Given the description of an element on the screen output the (x, y) to click on. 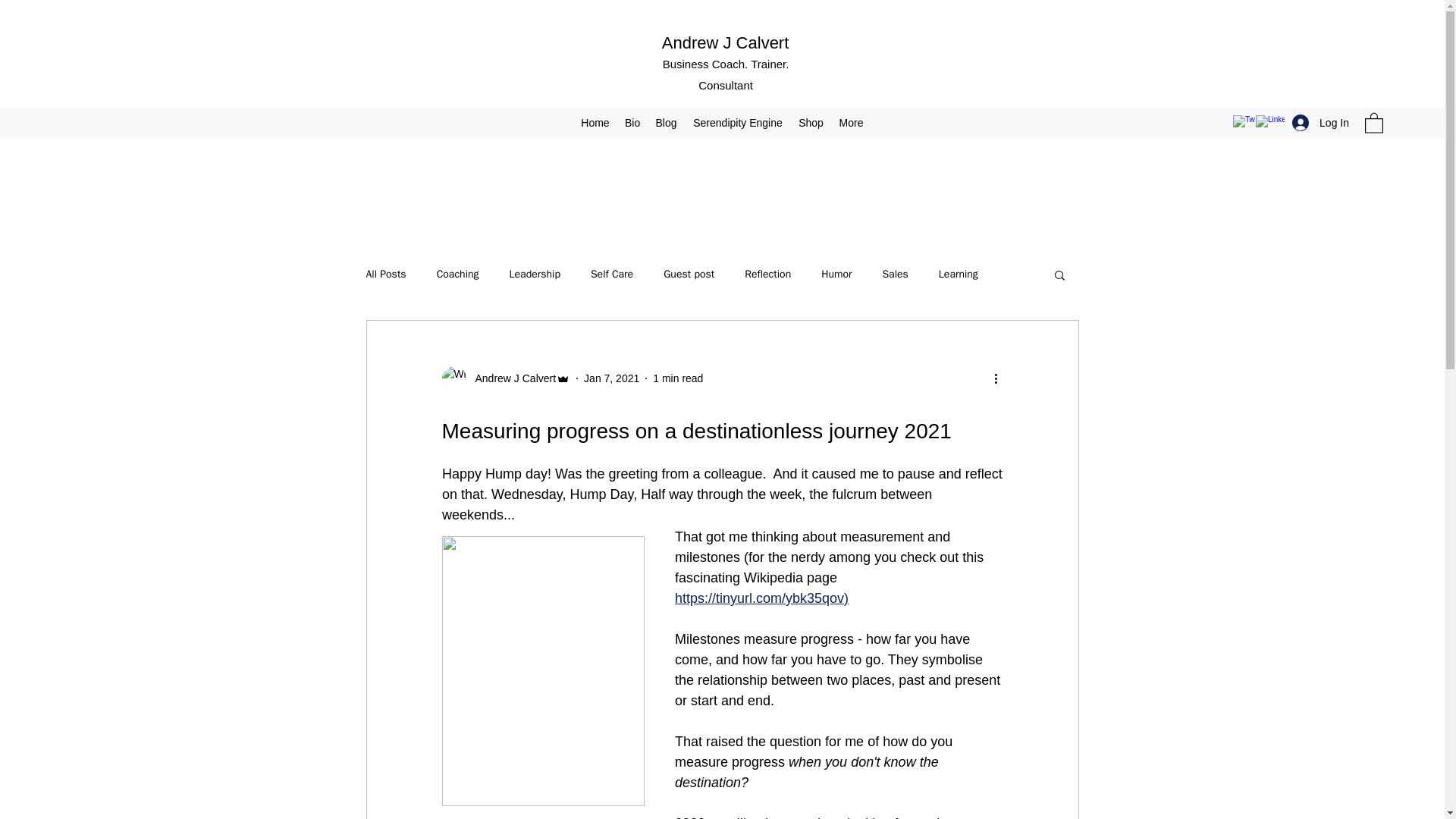
Log In (1320, 122)
Bio (632, 122)
Home (595, 122)
Self Care (612, 274)
Andrew J Calvert (505, 378)
Serendipity Engine (737, 122)
Coaching (457, 274)
Learning (958, 274)
Leadership (534, 274)
Sales (894, 274)
